Given the description of an element on the screen output the (x, y) to click on. 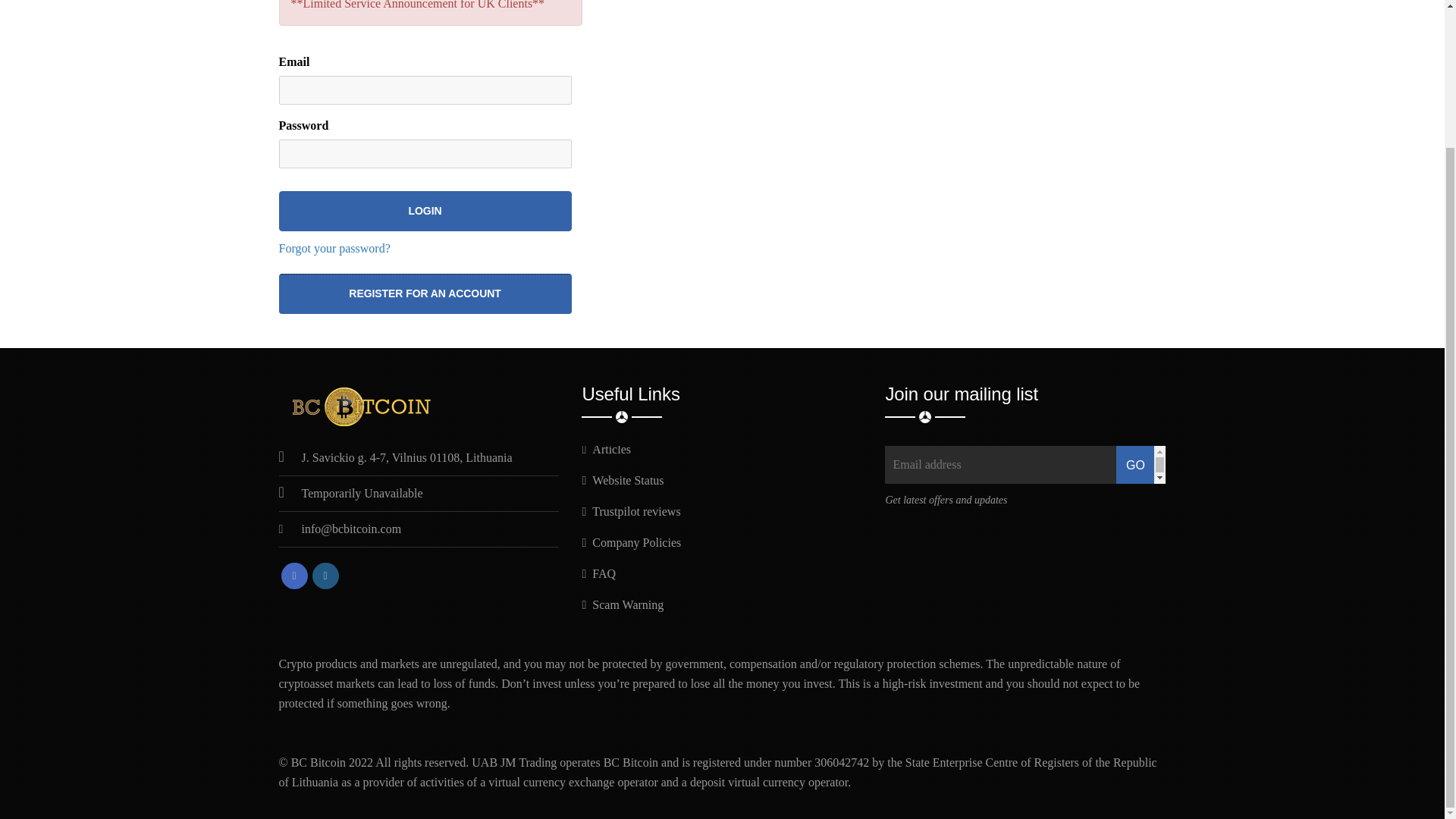
Forgot your password? (334, 247)
FAQ (597, 573)
Company Policies (630, 542)
LOGIN (425, 210)
Trustpilot reviews (629, 511)
Scam Warning (621, 604)
Articles (605, 449)
Website Status (621, 480)
REGISTER FOR AN ACCOUNT (424, 293)
GO (1135, 464)
